Given the description of an element on the screen output the (x, y) to click on. 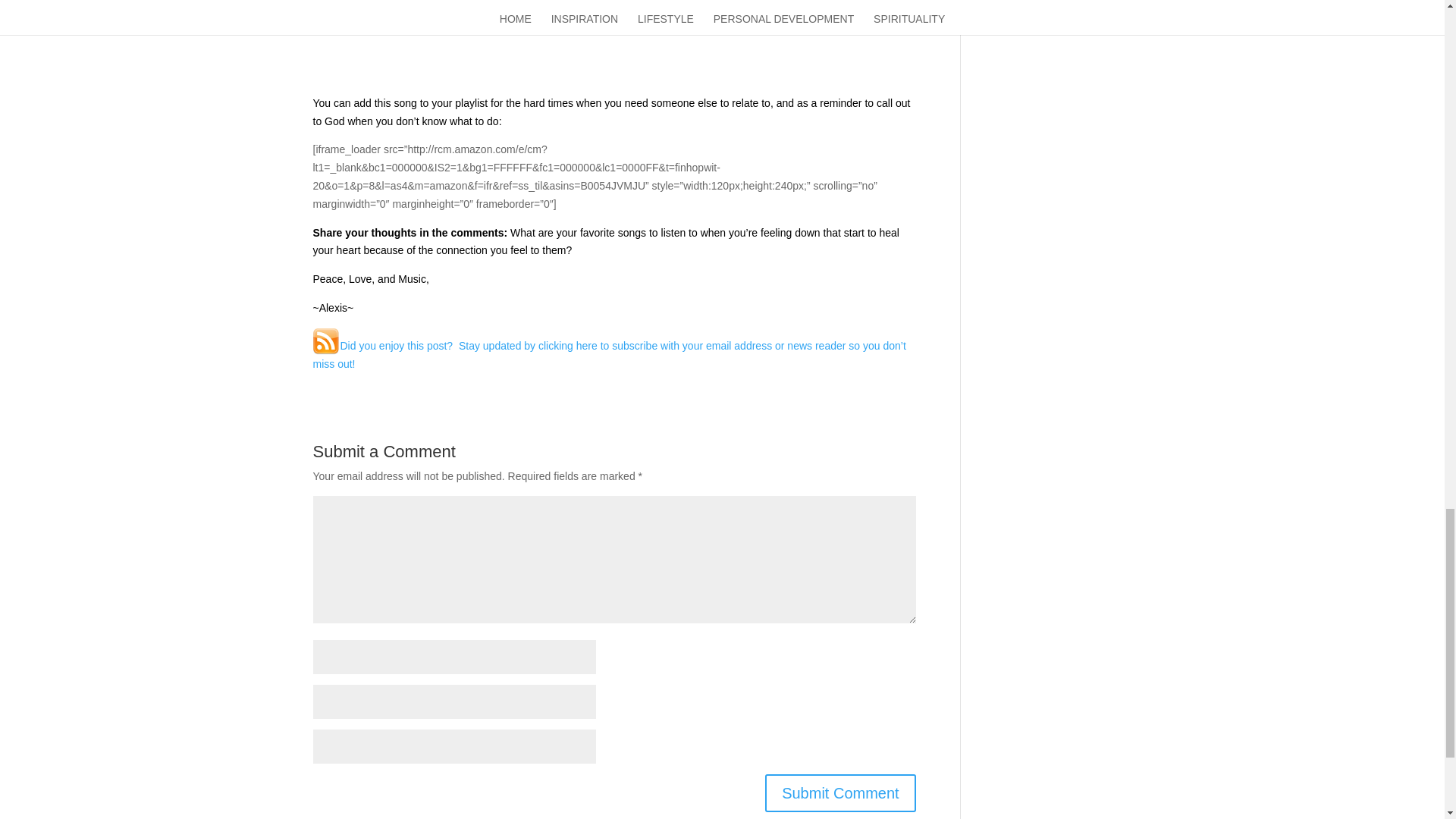
Submit Comment (840, 792)
rss icon 1 (326, 341)
Submit Comment (840, 792)
